Given the description of an element on the screen output the (x, y) to click on. 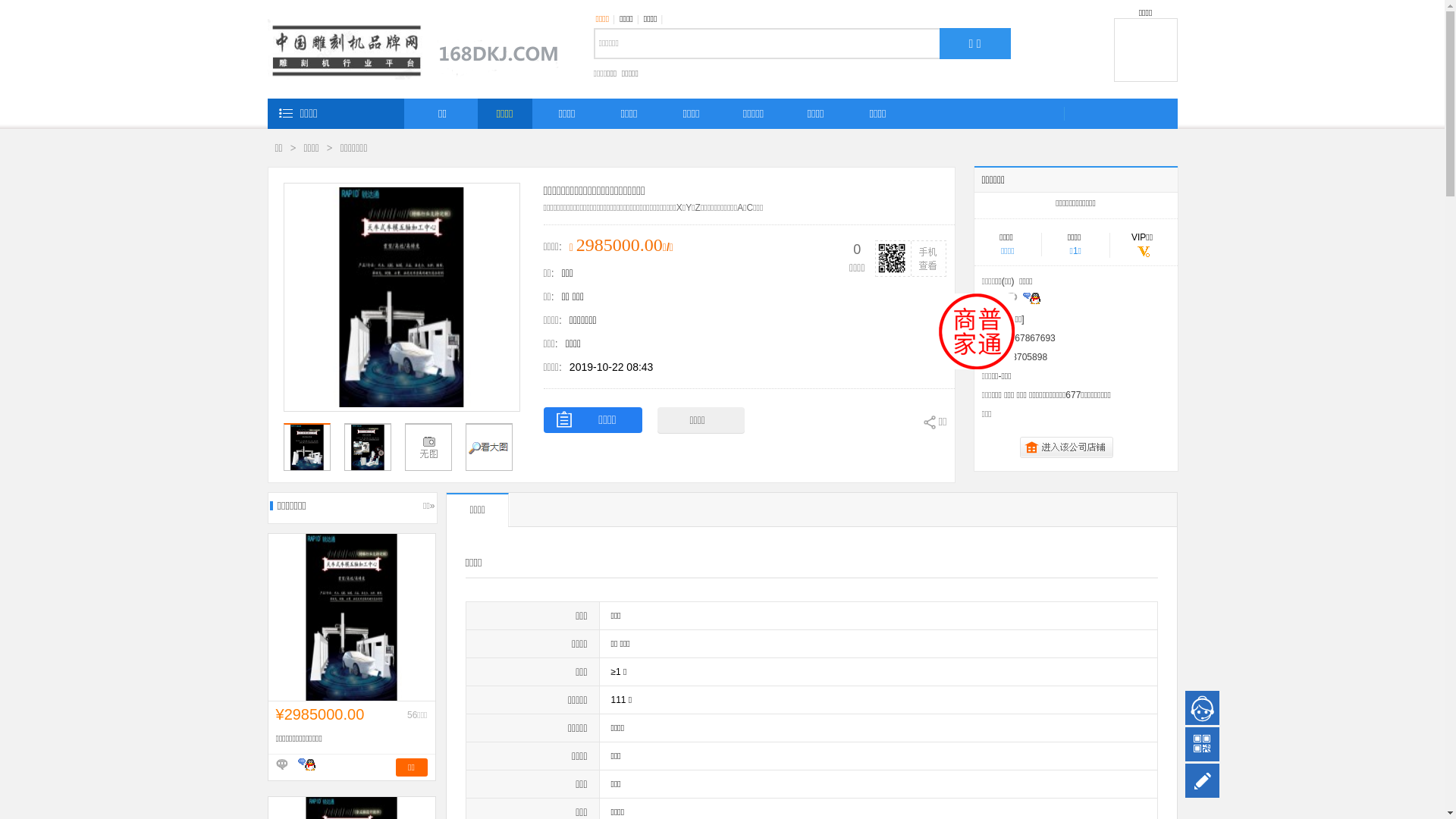
0 Element type: text (488, 446)
